Given the description of an element on the screen output the (x, y) to click on. 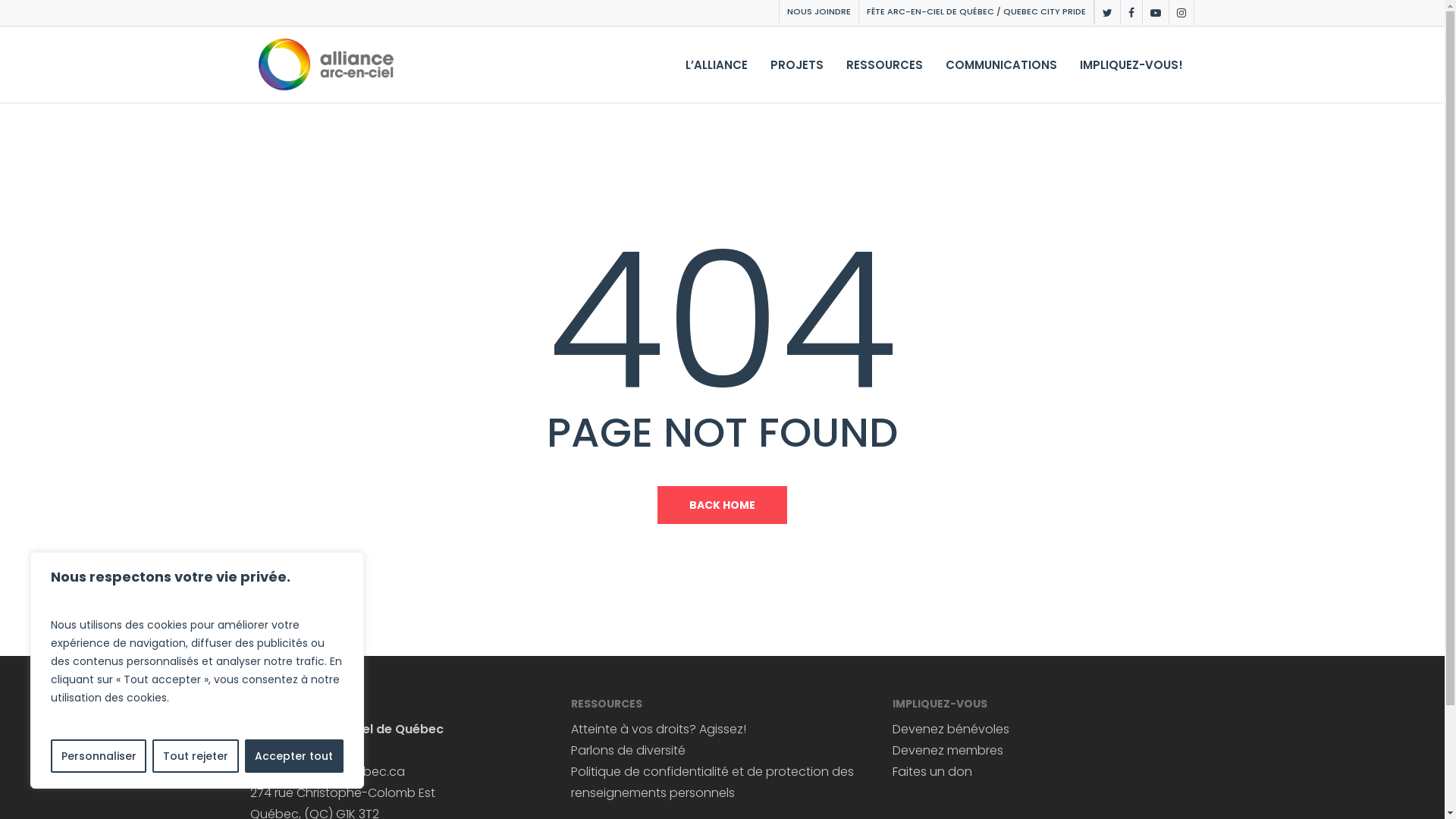
TWITTER Element type: text (1107, 12)
Accepter tout Element type: text (293, 755)
NOUS JOINDRE Element type: text (818, 11)
info@arcencielquebec.ca Element type: text (327, 771)
Faites un don Element type: text (932, 771)
IMPLIQUEZ-VOUS! Element type: text (1131, 64)
Tout rejeter Element type: text (195, 755)
FACEBOOK Element type: text (1131, 12)
RESSOURCES Element type: text (884, 64)
COMMUNICATIONS Element type: text (1001, 64)
Devenez membres Element type: text (947, 750)
BACK HOME Element type: text (722, 504)
Personnaliser Element type: text (98, 755)
YOUTUBE Element type: text (1155, 12)
PROJETS Element type: text (796, 64)
INSTAGRAM Element type: text (1180, 12)
